Given the description of an element on the screen output the (x, y) to click on. 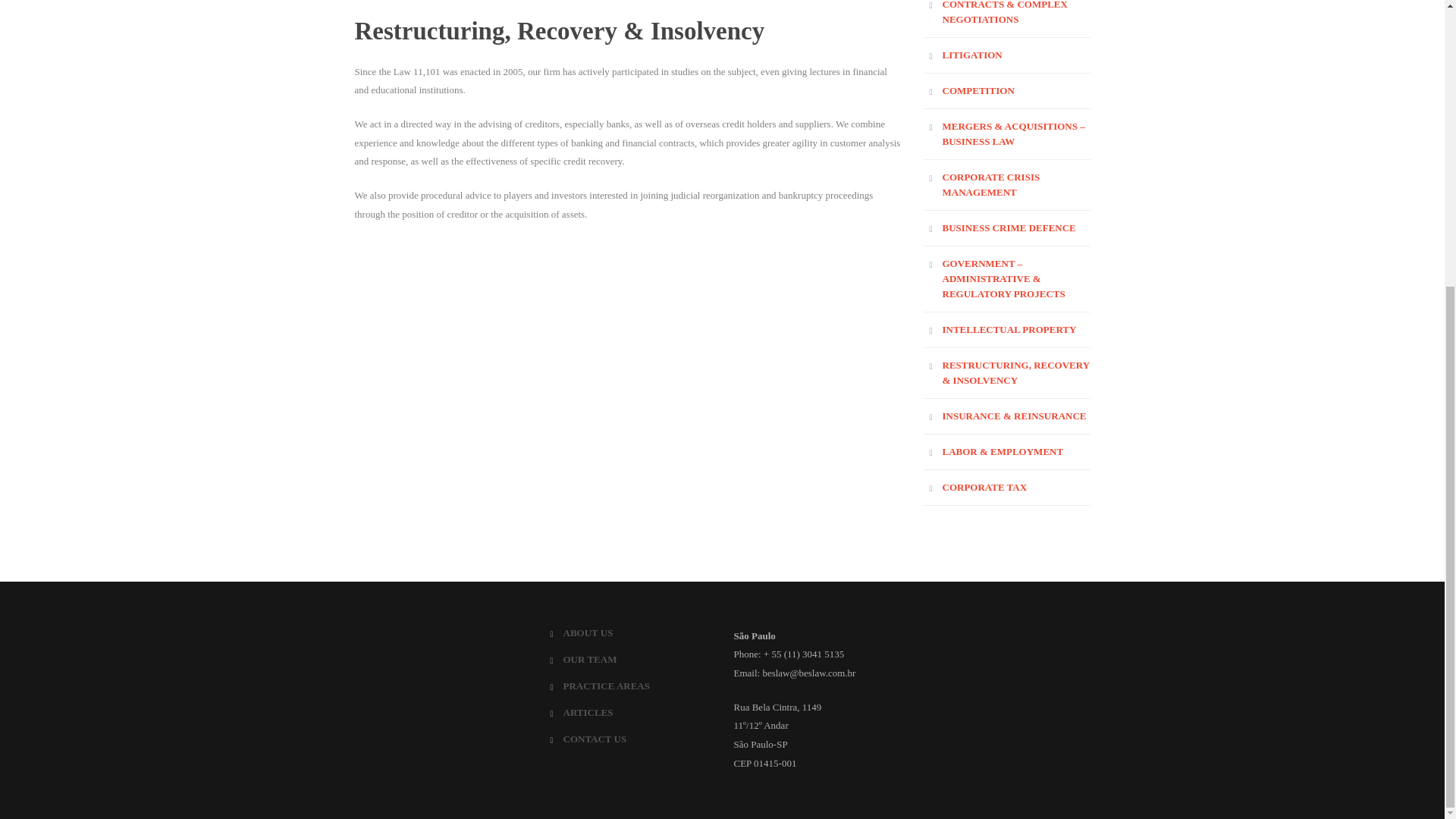
CORPORATE CRISIS MANAGEMENT (990, 184)
OUR TEAM (588, 659)
INTELLECTUAL PROPERTY (1008, 328)
PRACTICE AREAS (605, 685)
BUSINESS CRIME DEFENCE (1008, 227)
ABOUT US (587, 632)
COMPETITION (977, 90)
CORPORATE TAX (984, 487)
LITIGATION (971, 54)
